Given the description of an element on the screen output the (x, y) to click on. 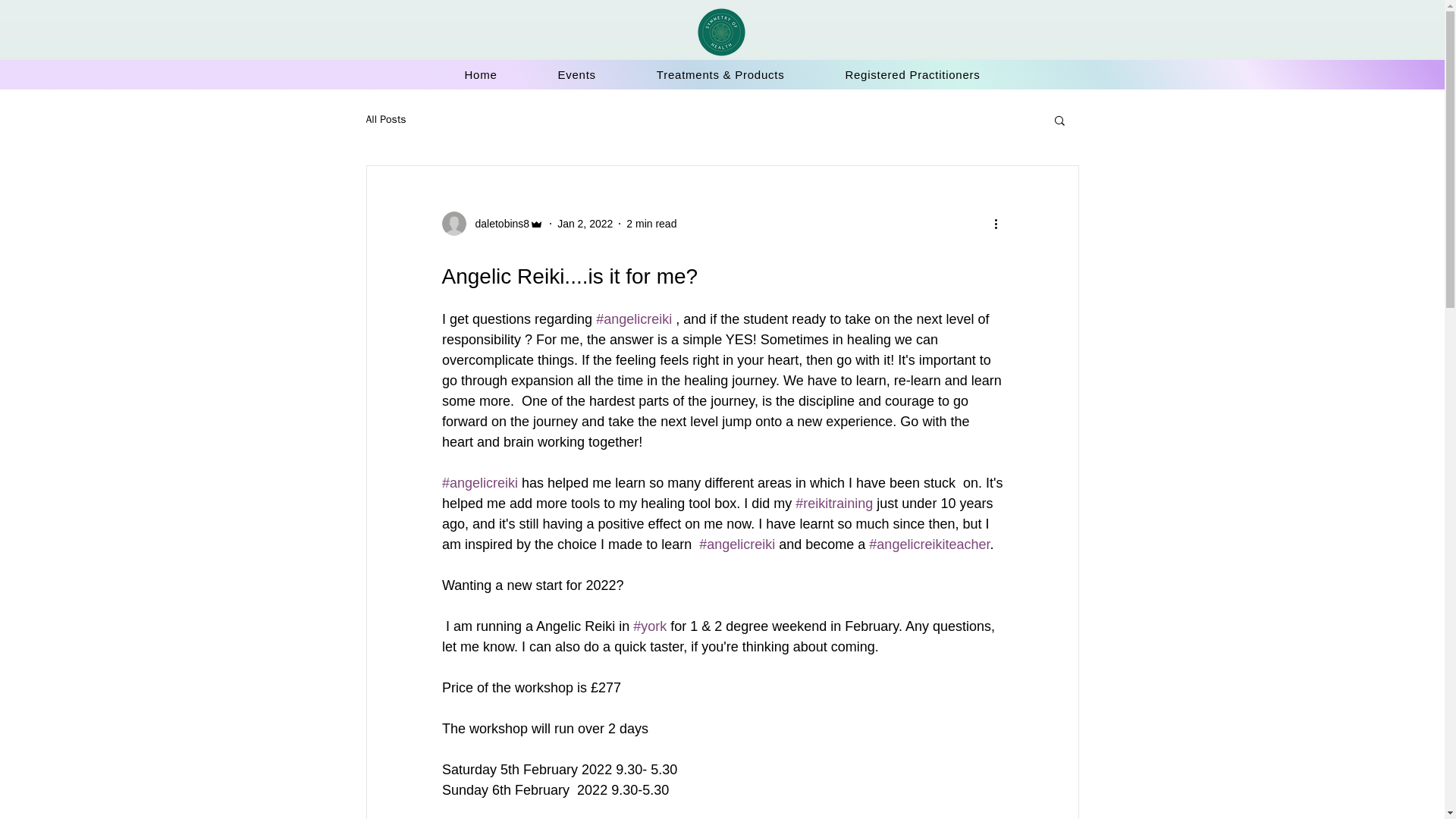
All Posts (385, 119)
2 min read (651, 223)
daletobins8 (492, 223)
Home (480, 74)
Events (576, 74)
daletobins8 (497, 222)
Registered Practitioners (912, 74)
Jan 2, 2022 (584, 223)
